Given the description of an element on the screen output the (x, y) to click on. 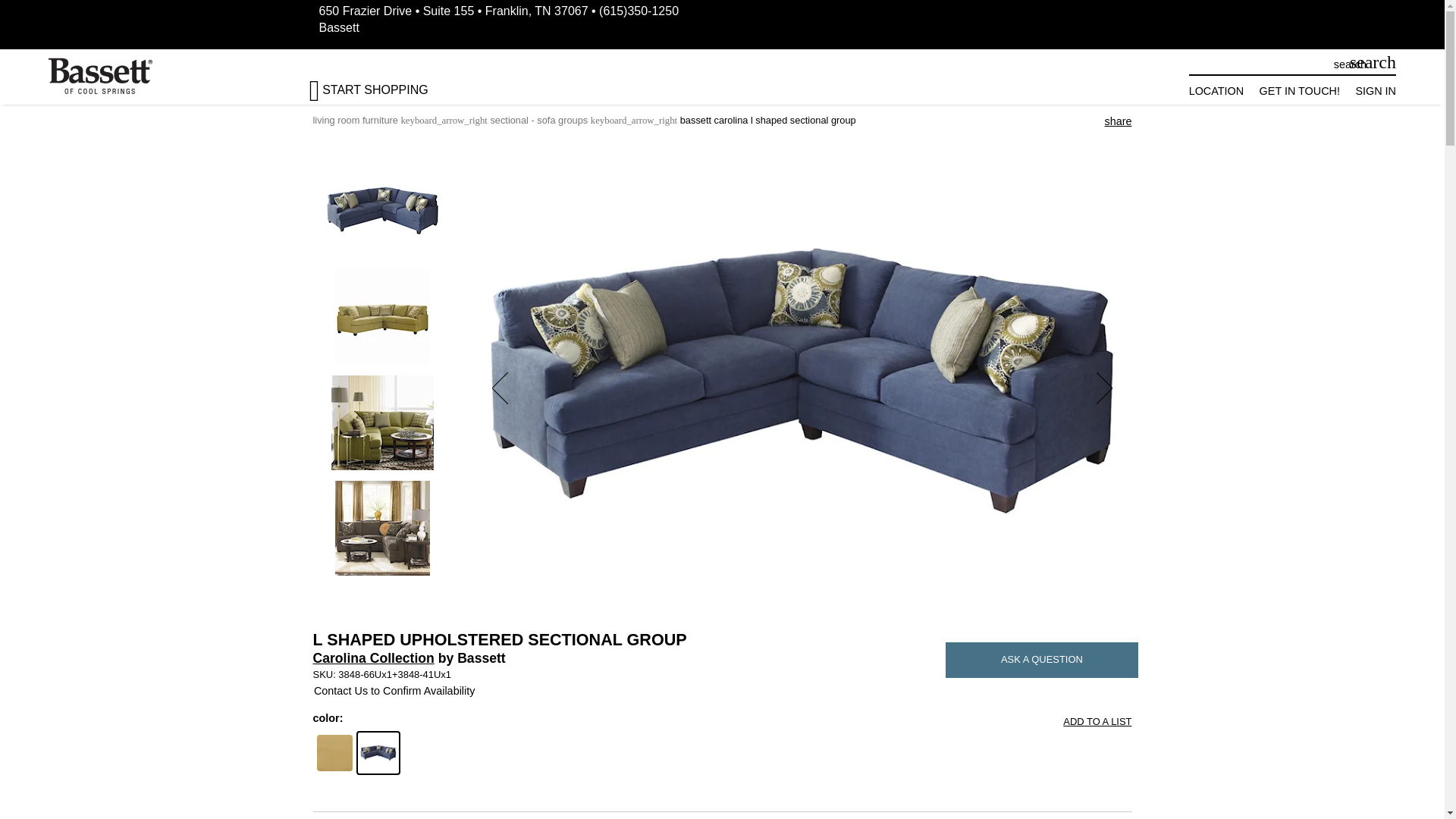
Bassett (338, 27)
START SHOPPING (381, 83)
